Given the description of an element on the screen output the (x, y) to click on. 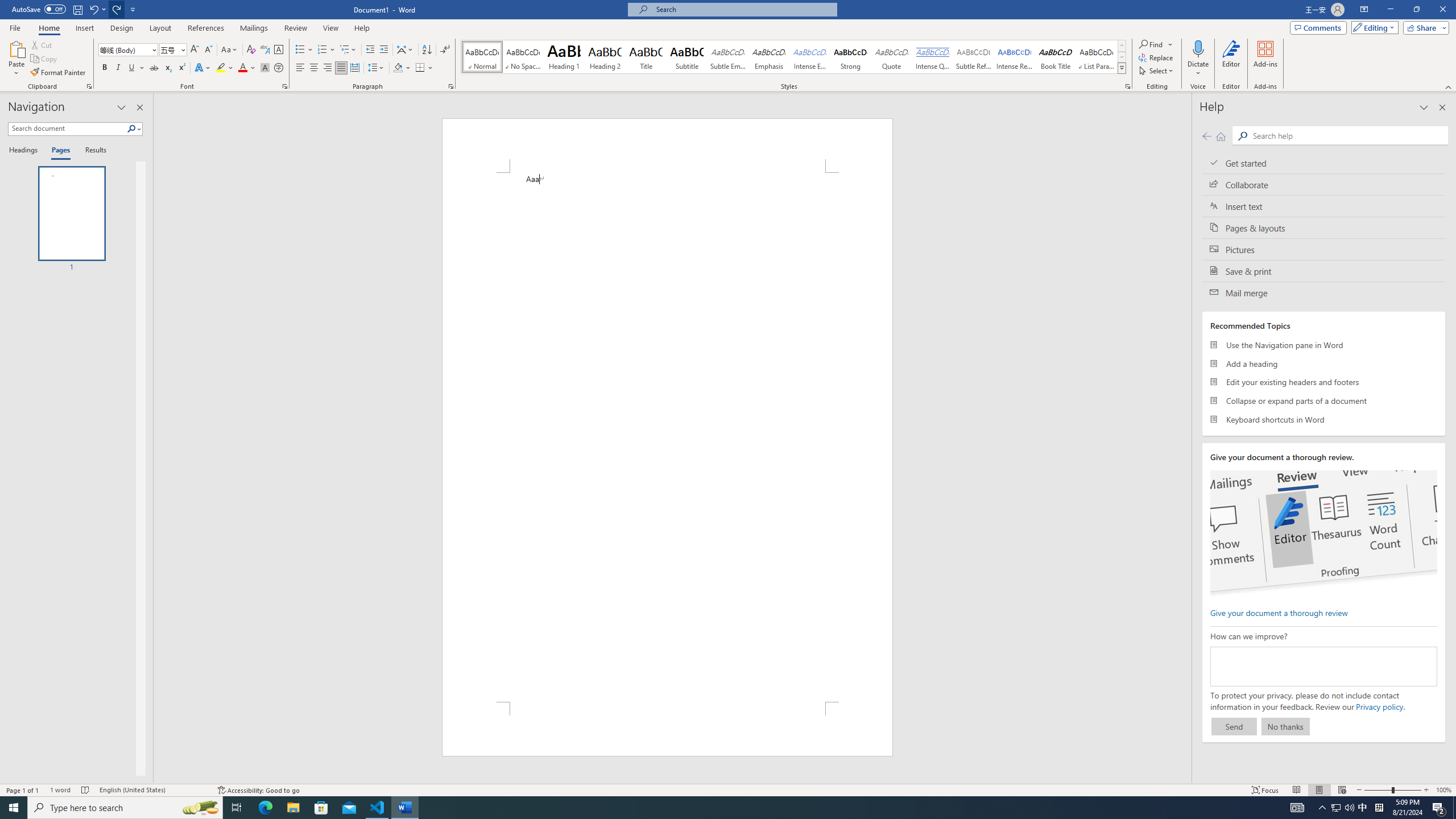
Pages & layouts (1323, 228)
Character Border (278, 49)
Accessibility Checker Accessibility: Good to go (258, 790)
Pictures (1323, 249)
Class: MsoCommandBar (728, 789)
Collapse or expand parts of a document (1323, 400)
Text Highlight Color (224, 67)
Class: NetUIImage (1121, 68)
Close (1442, 9)
Undo Apply Quick Style (92, 9)
Heading 1 (564, 56)
Shading (402, 67)
Row up (1121, 45)
Enclose Characters... (278, 67)
Align Left (300, 67)
